Given the description of an element on the screen output the (x, y) to click on. 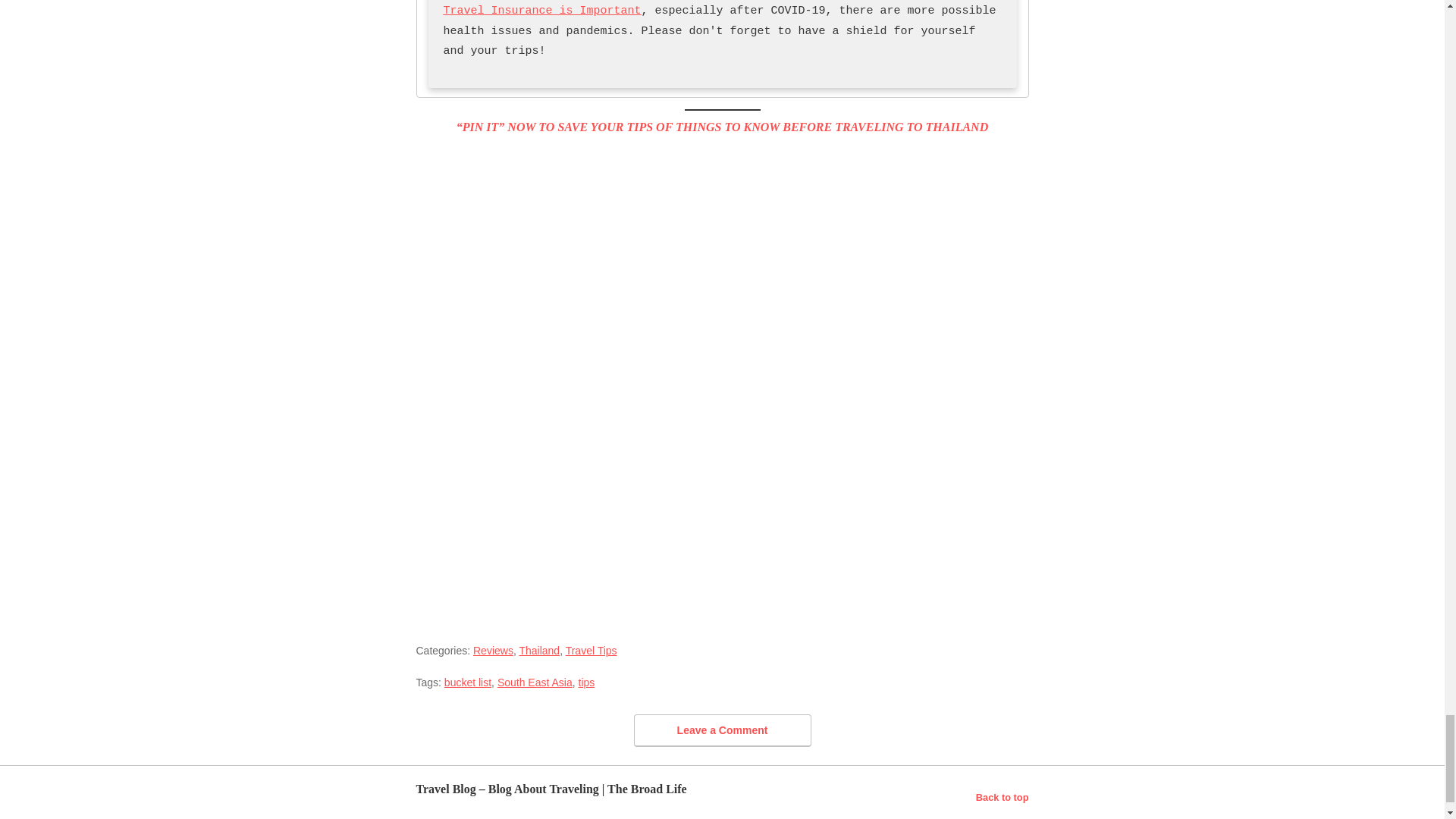
Travel Tips (591, 650)
Thailand (538, 650)
Travel Insurance is Important (541, 10)
Reviews (493, 650)
